Given the description of an element on the screen output the (x, y) to click on. 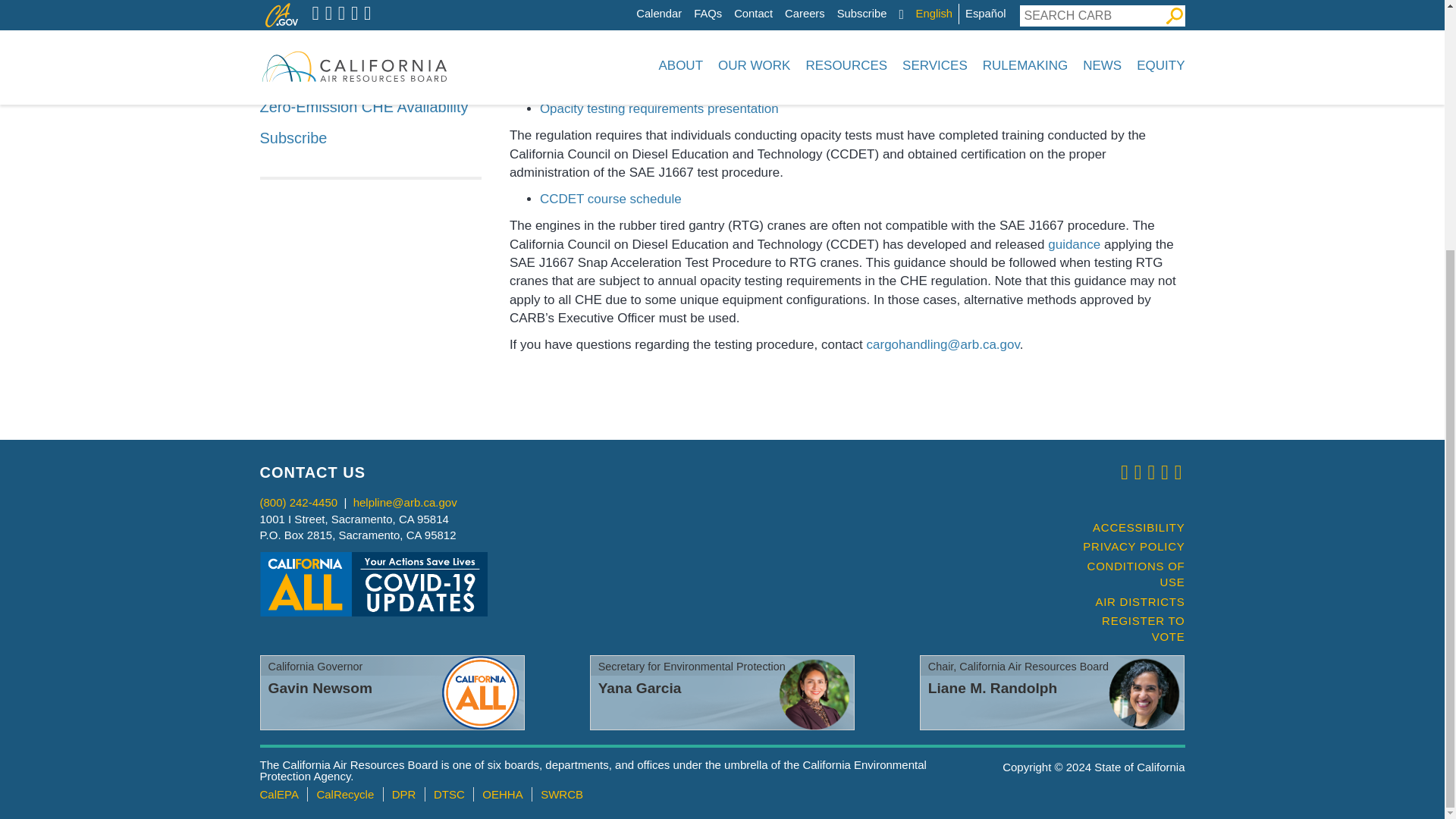
California online voter registration (1127, 628)
California Environmental Protection Agency (278, 794)
